Given the description of an element on the screen output the (x, y) to click on. 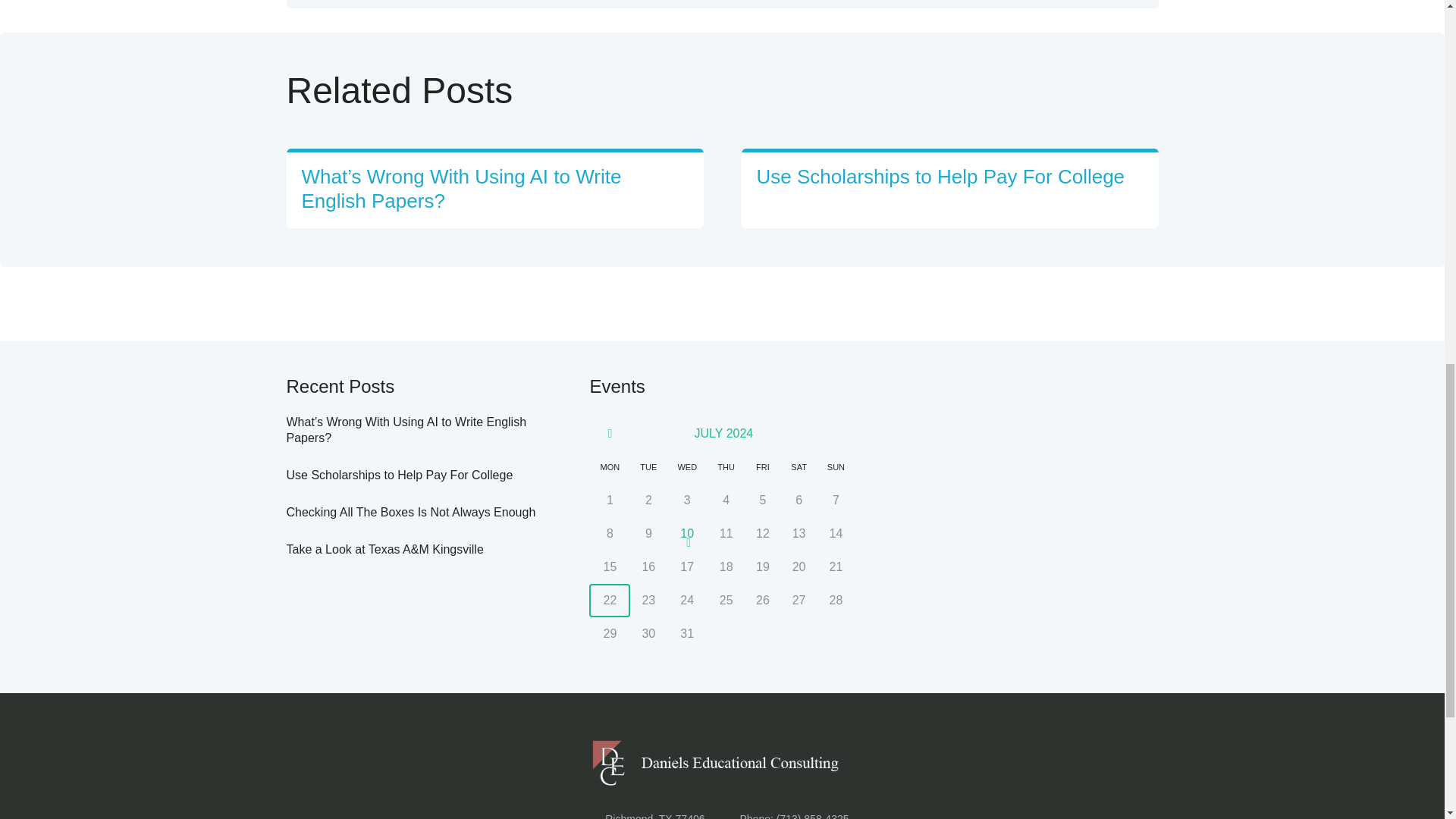
Thursday (725, 467)
Use Scholarships to Help Pay For College (399, 474)
Monday (609, 467)
Wednesday (686, 467)
Use Scholarships to Help Pay For College (941, 176)
View posts for July 2024 (724, 432)
Friday (762, 467)
Tuesday (648, 467)
View posts for February 2024 (609, 434)
Saturday (798, 467)
